Given the description of an element on the screen output the (x, y) to click on. 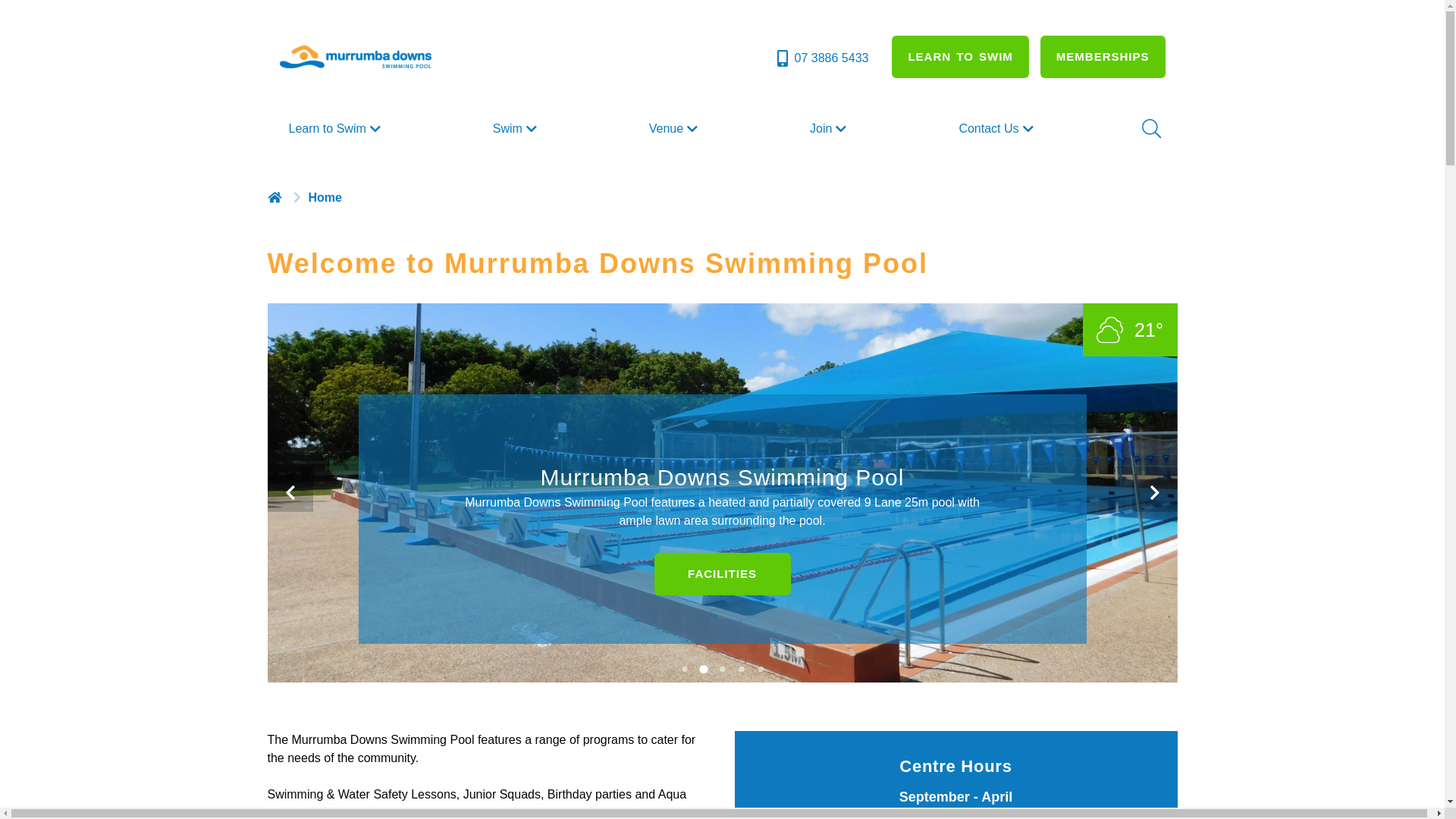
Join Element type: text (829, 128)
Contact Us Element type: text (997, 128)
FACILITIES Element type: text (721, 573)
Learn to Swim Element type: text (335, 128)
Prev Element type: text (289, 492)
Venue Element type: text (675, 128)
Search Element type: text (1150, 128)
  Element type: text (275, 197)
LEARN TO SWIM Element type: text (959, 56)
Next Element type: text (1153, 492)
07 3886 5433 Element type: text (821, 58)
Swim Element type: text (516, 128)
MEMBERSHIPS Element type: text (1102, 56)
